Given the description of an element on the screen output the (x, y) to click on. 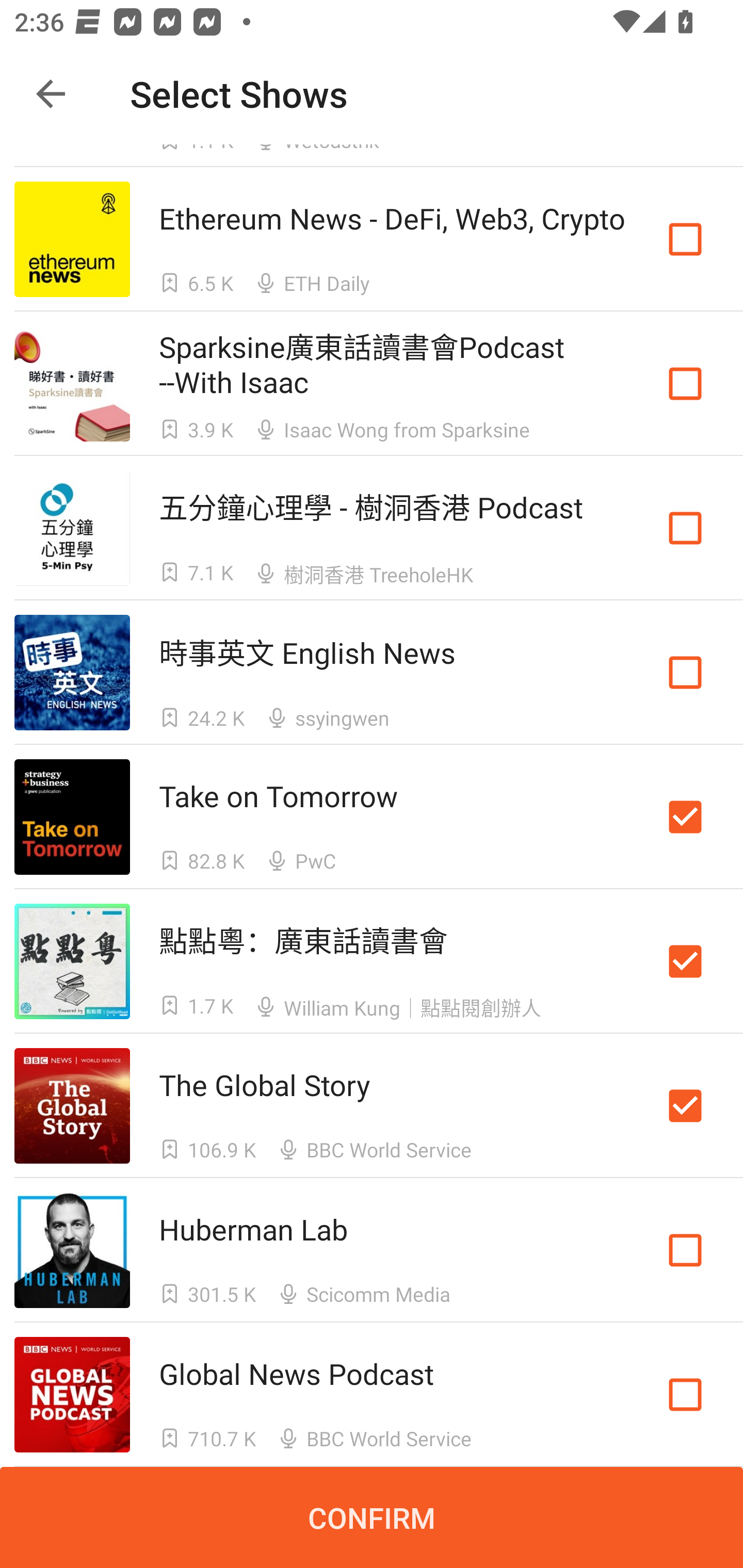
Navigate up (50, 93)
Take on Tomorrow Take on Tomorrow  82.8 K  PwC (371, 816)
CONFIRM (371, 1517)
